Given the description of an element on the screen output the (x, y) to click on. 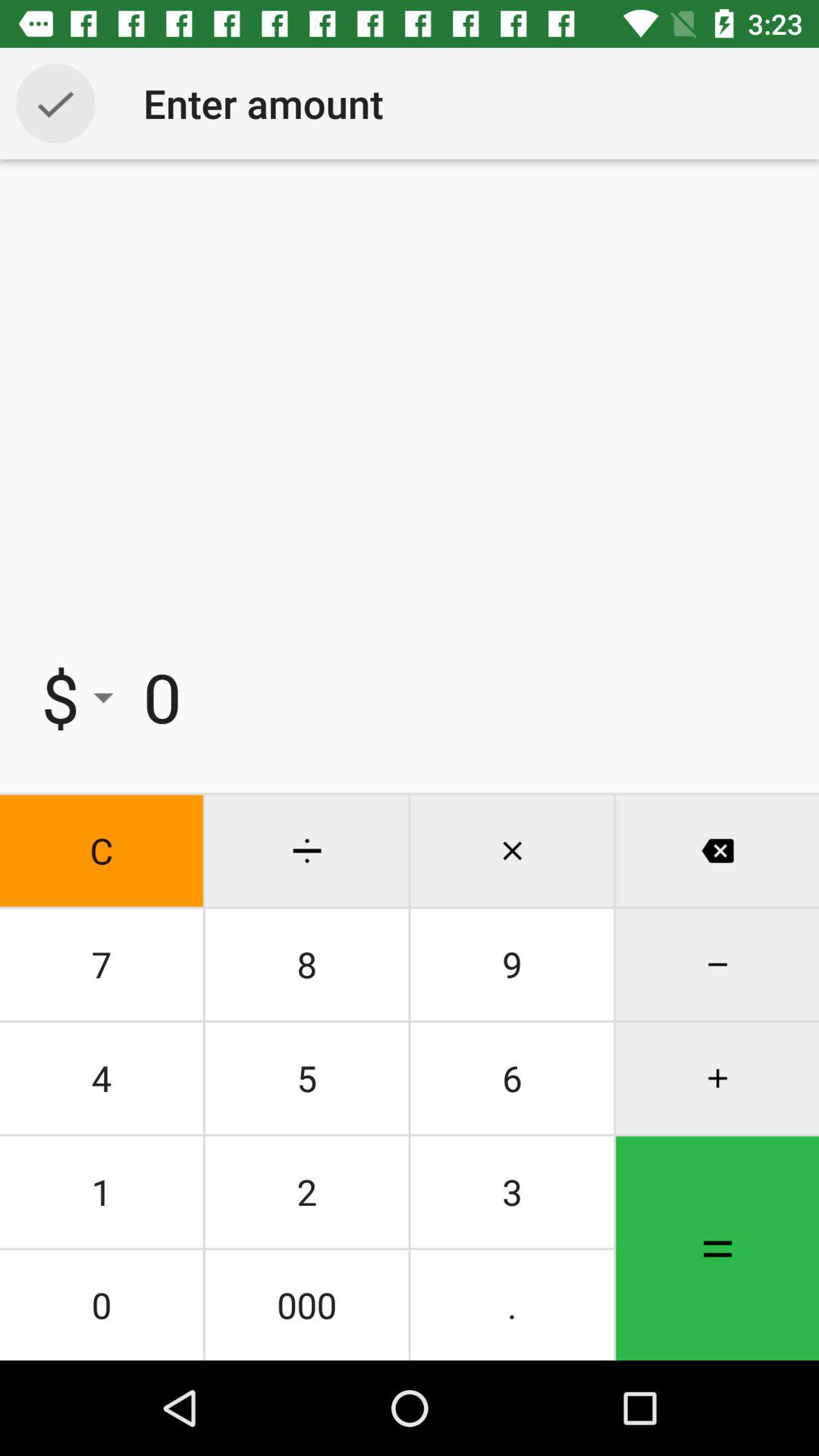
open the item next to the 0 item (79, 697)
